Given the description of an element on the screen output the (x, y) to click on. 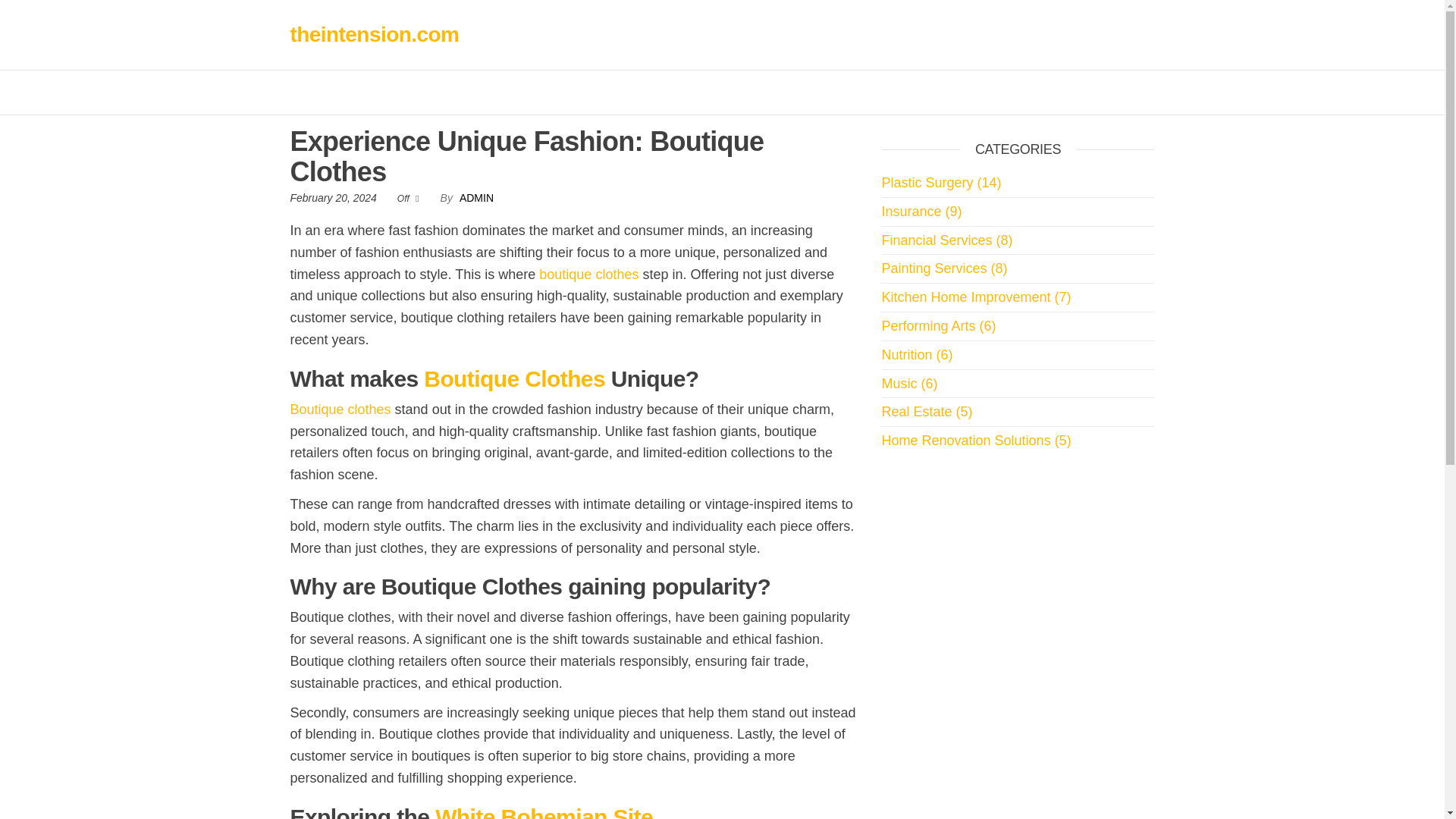
Boutique clothes (339, 409)
boutique clothes (588, 273)
White Bohemian Site (543, 811)
Boutique Clothes (514, 378)
ADMIN (476, 197)
theintension.com (373, 33)
